Given the description of an element on the screen output the (x, y) to click on. 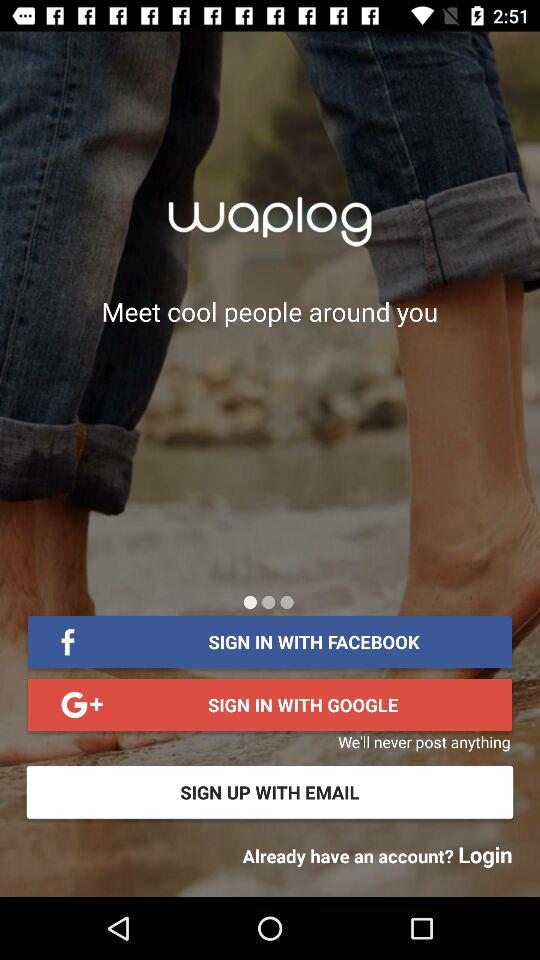
navigation aid this is the middle of 3 pages (268, 602)
